Given the description of an element on the screen output the (x, y) to click on. 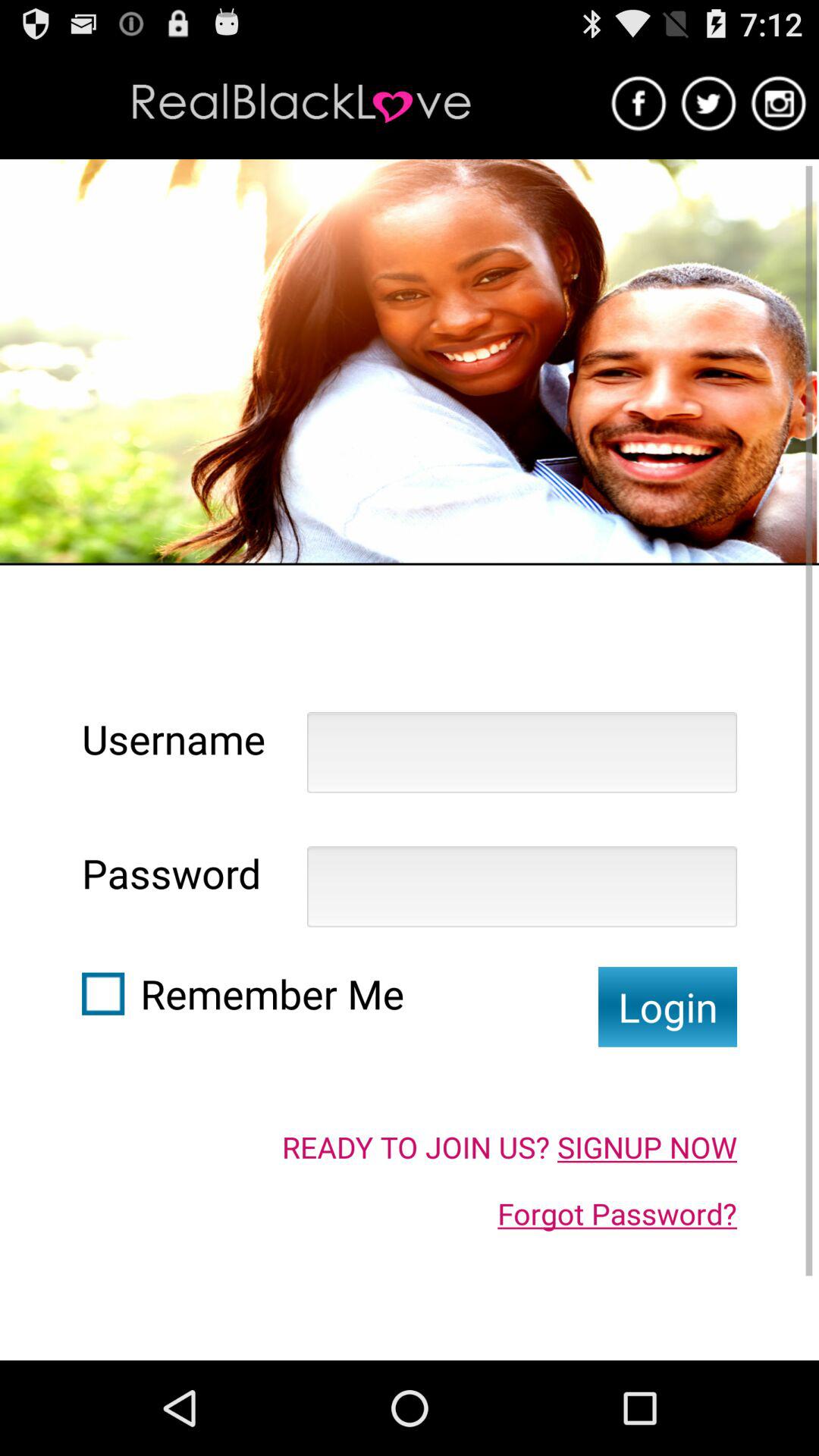
select item next to remember me icon (102, 993)
